Given the description of an element on the screen output the (x, y) to click on. 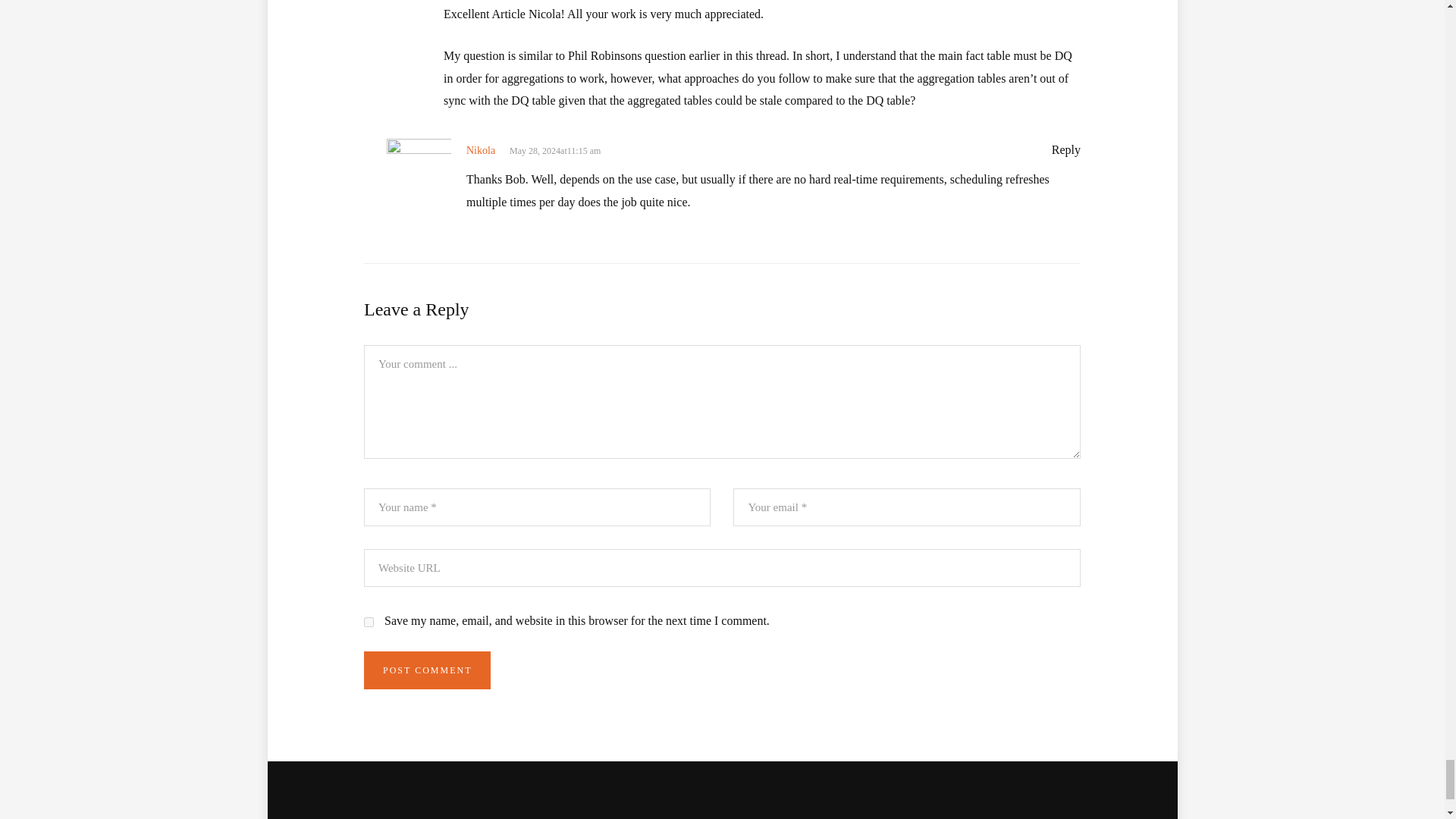
Post Comment (427, 670)
yes (369, 622)
